Given the description of an element on the screen output the (x, y) to click on. 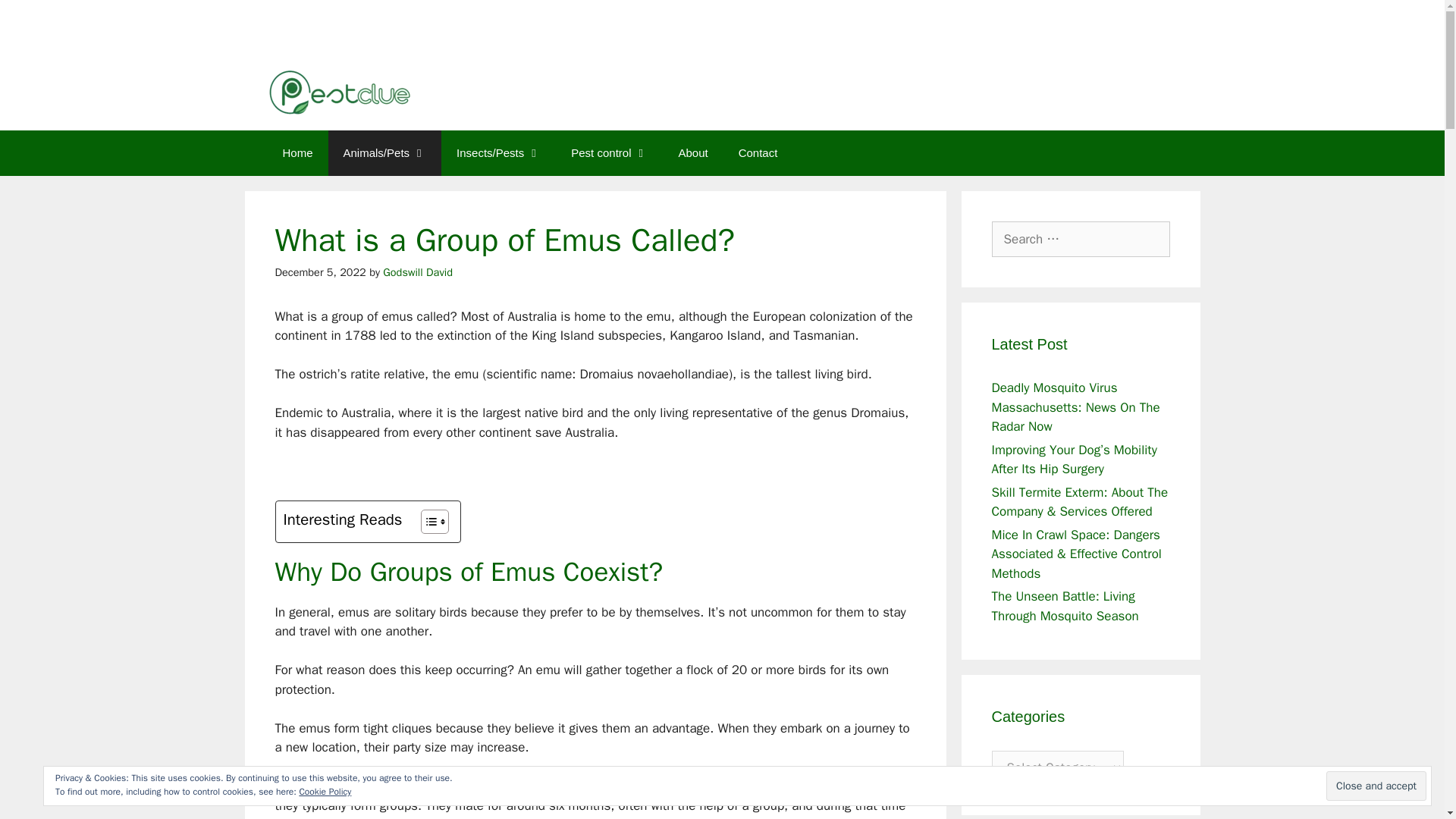
Home (296, 153)
View all posts by Godswill David (417, 272)
Instagram (1110, 19)
LinkedIn (1055, 19)
Facebook (1164, 19)
YouTube (1137, 19)
Pinterest (1083, 19)
Twitter (1028, 19)
Close and accept (1376, 785)
